Given the description of an element on the screen output the (x, y) to click on. 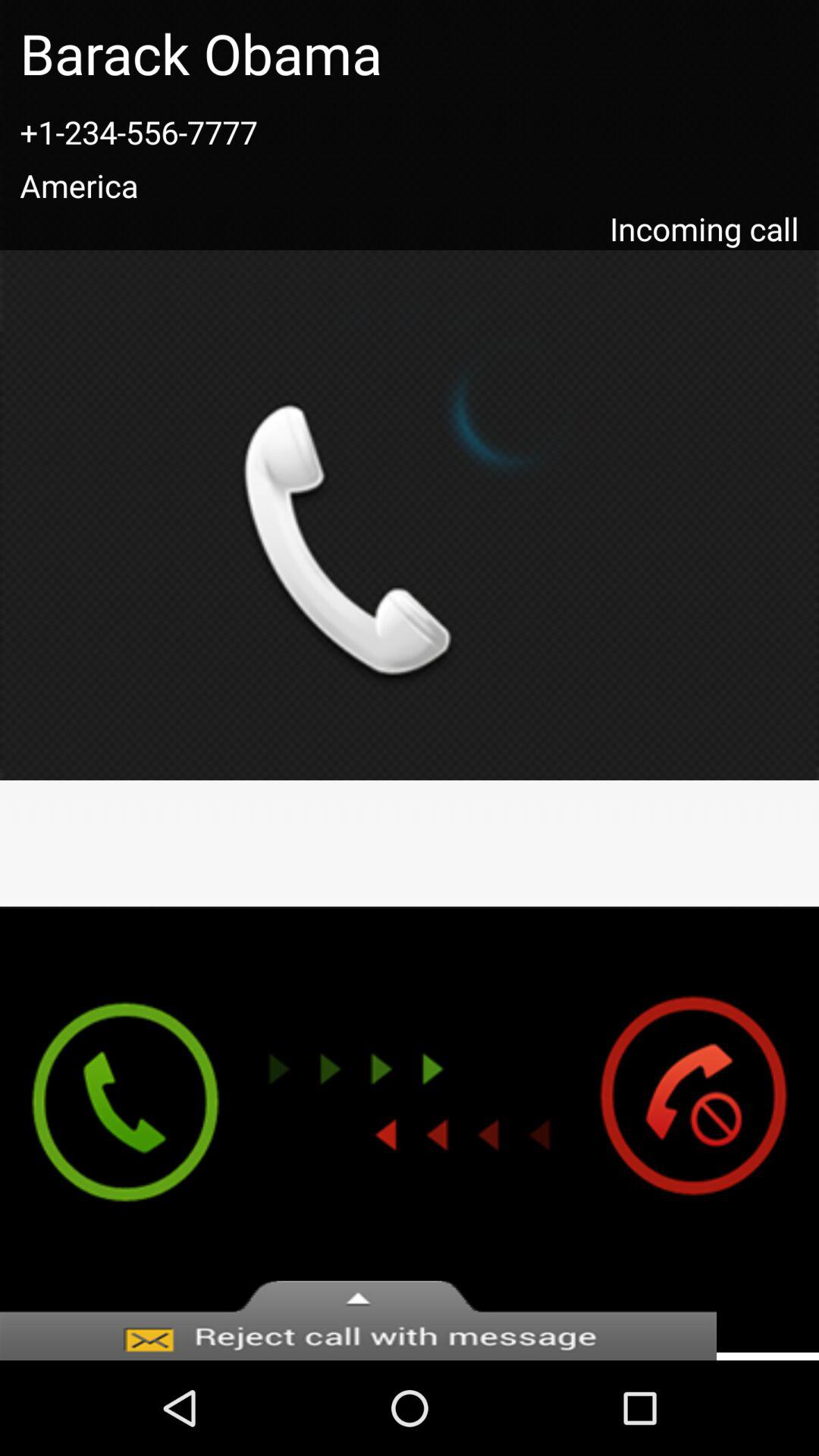
answer the call (111, 1129)
